Given the description of an element on the screen output the (x, y) to click on. 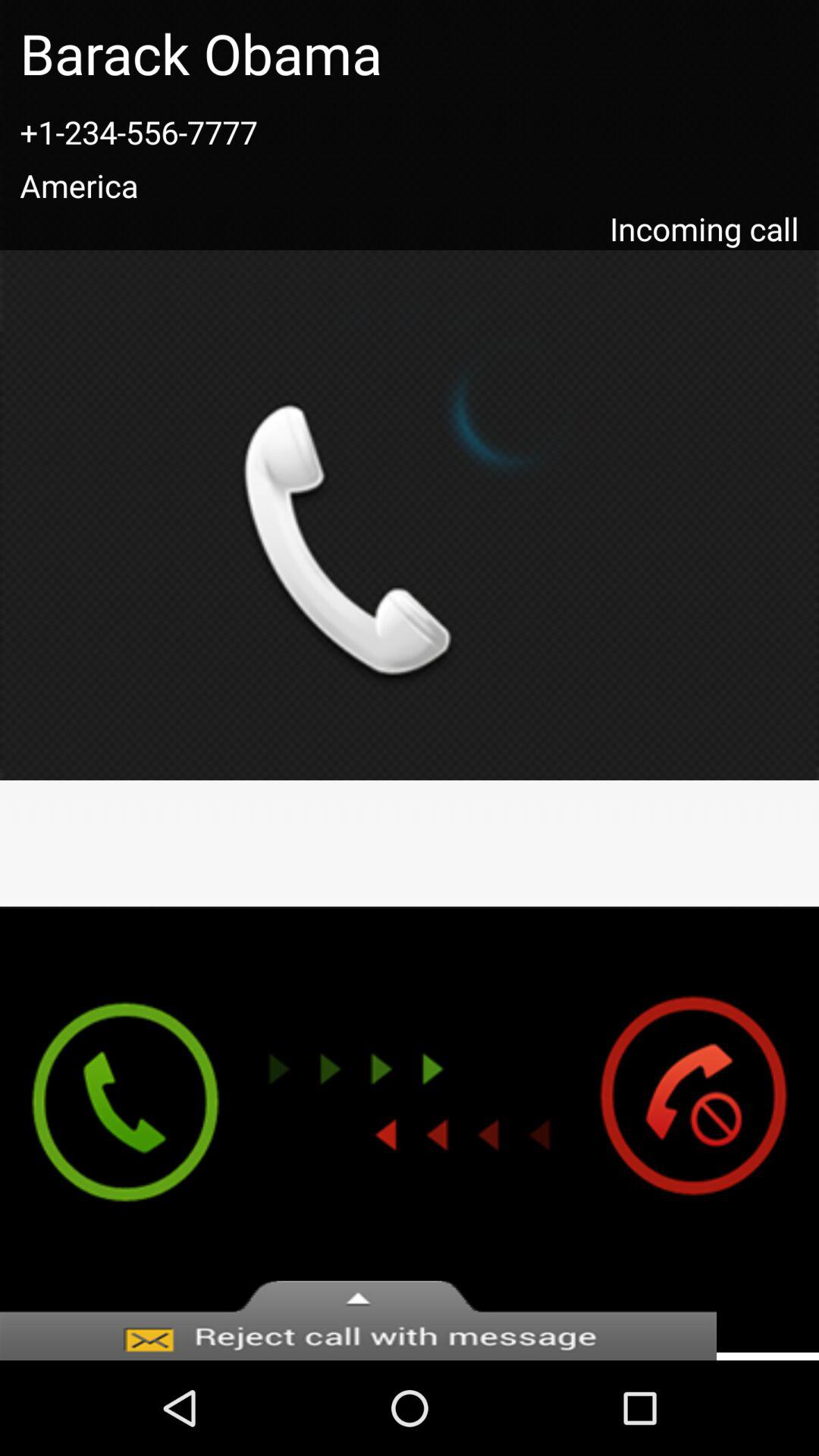
answer the call (111, 1129)
